Given the description of an element on the screen output the (x, y) to click on. 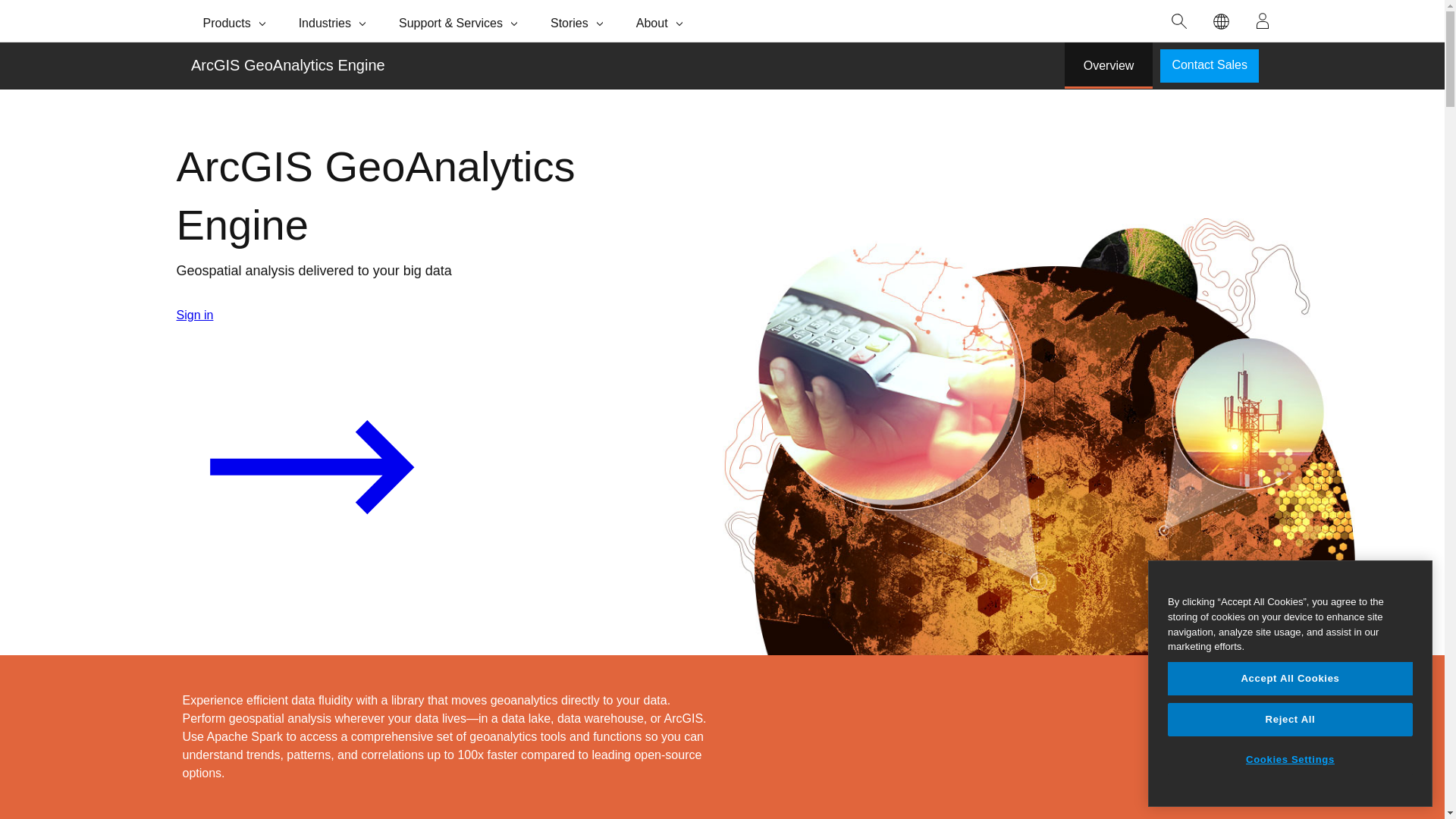
Products (235, 20)
Sign In (1262, 20)
Switch Language (1220, 20)
Industries (333, 20)
Search (1178, 20)
